Given the description of an element on the screen output the (x, y) to click on. 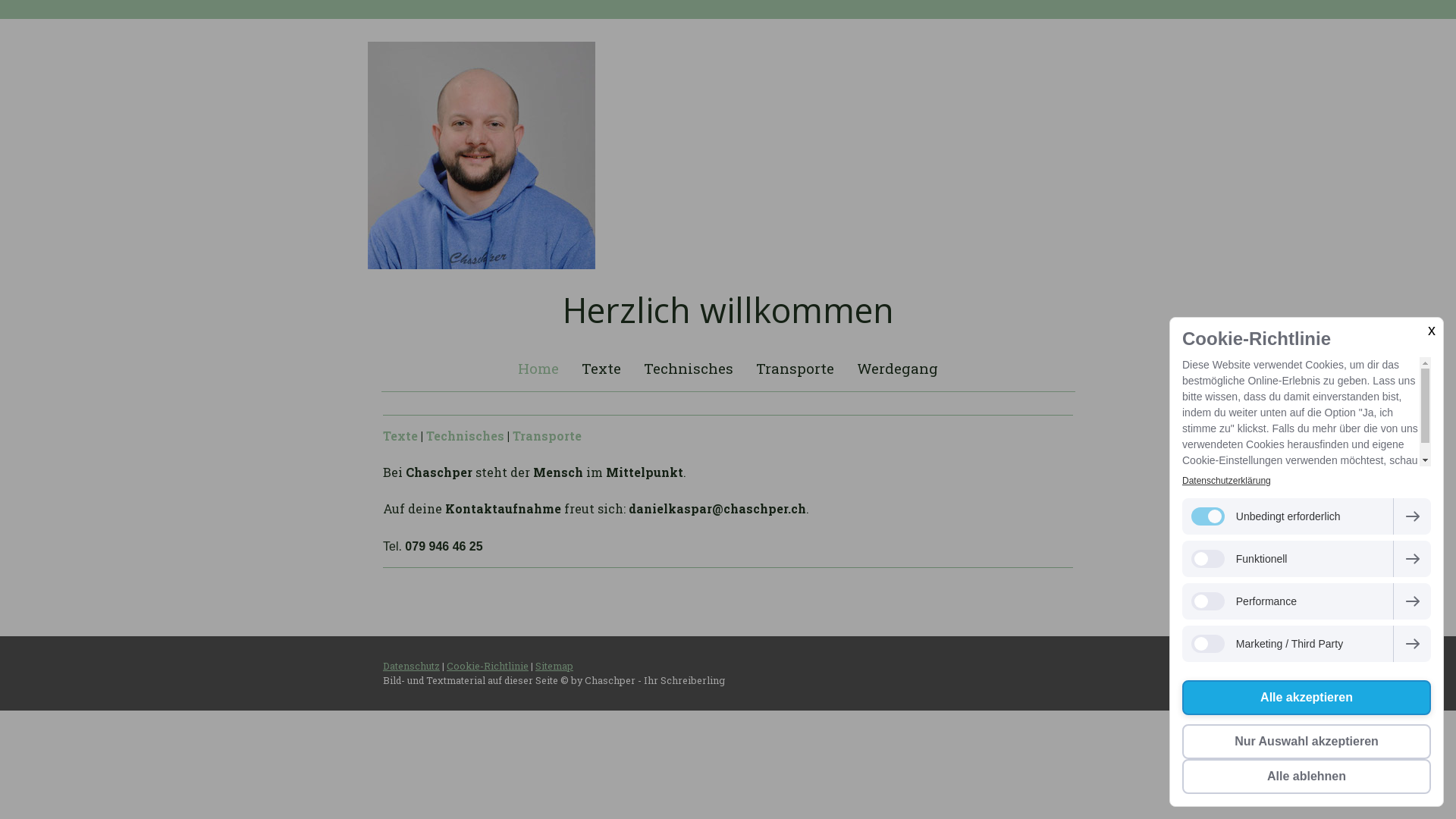
Texte Element type: text (399, 435)
Werdegang Element type: text (897, 368)
Technisches Element type: text (688, 368)
Sitemap Element type: text (554, 665)
Transporte Element type: text (546, 435)
Datenschutz Element type: text (410, 665)
Texte Element type: text (601, 368)
Alle ablehnen Element type: text (1306, 776)
Alle akzeptieren Element type: text (1306, 697)
Home Element type: text (538, 368)
Cookie-Richtlinie Element type: text (487, 665)
Technisches Element type: text (465, 435)
Transporte Element type: text (794, 368)
Herzlich willkommen Element type: text (727, 309)
Nur Auswahl akzeptieren Element type: text (1306, 741)
